Given the description of an element on the screen output the (x, y) to click on. 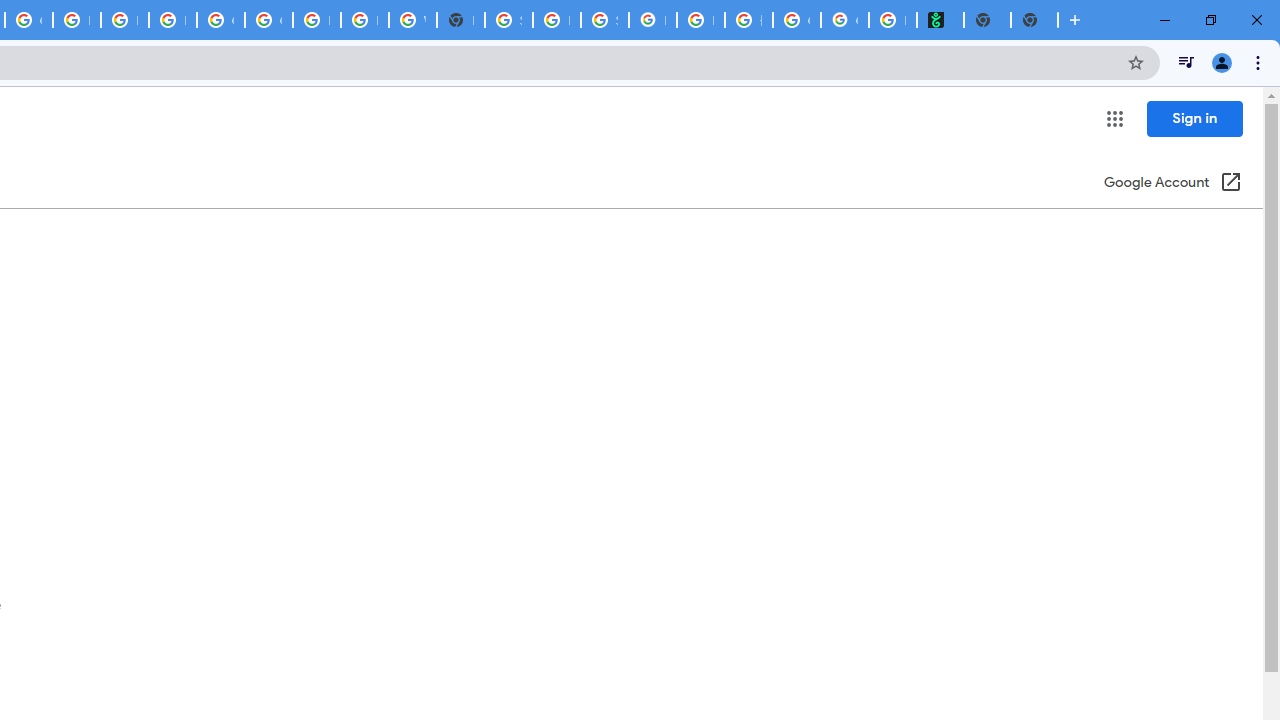
Google Cloud Platform (220, 20)
Browse Chrome as a guest - Computer - Google Chrome Help (316, 20)
Sign in - Google Accounts (508, 20)
New Tab (460, 20)
